Given the description of an element on the screen output the (x, y) to click on. 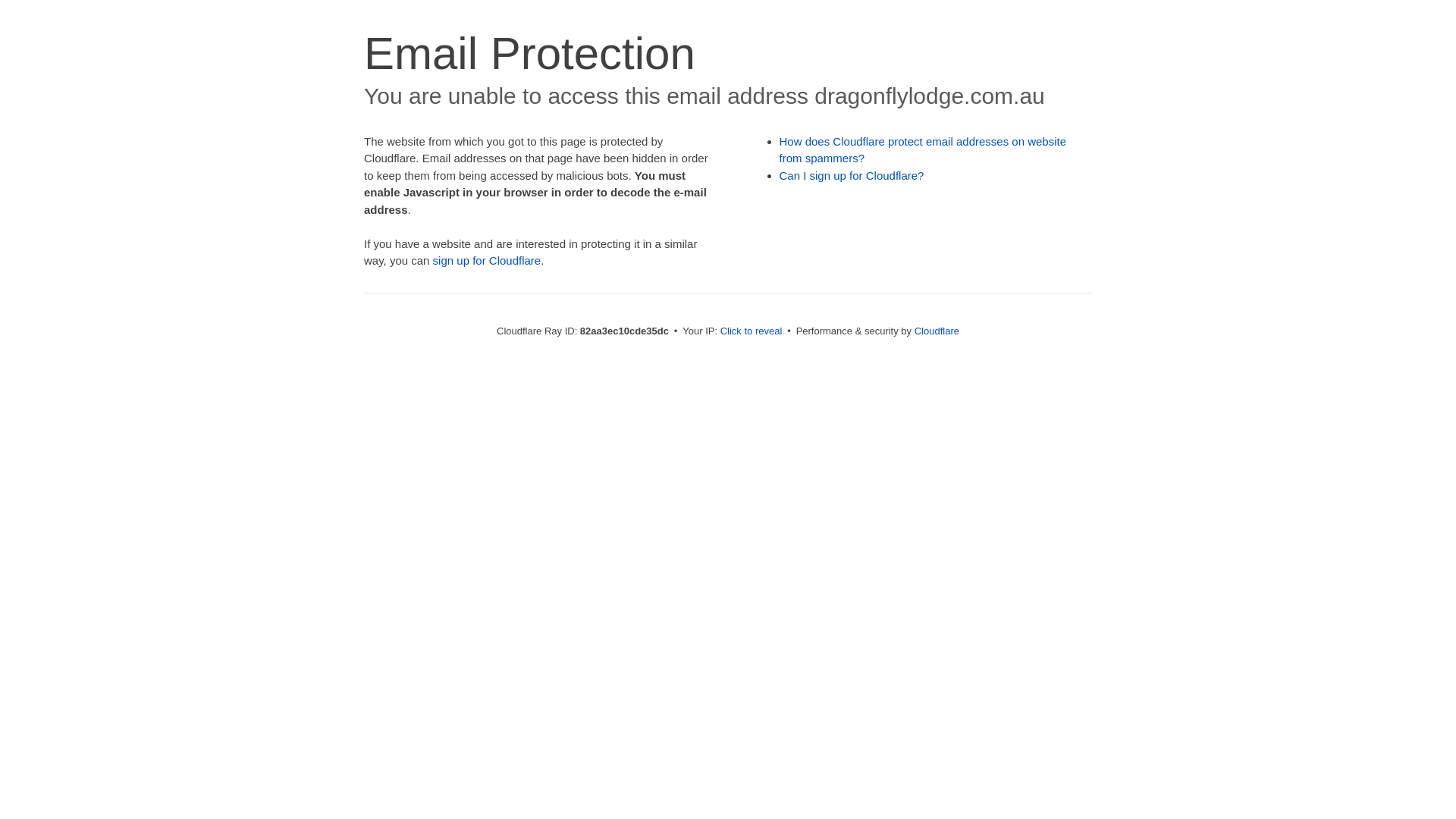
sign up for Cloudflare Element type: text (487, 260)
Cloudflare Element type: text (936, 330)
Can I sign up for Cloudflare? Element type: text (851, 175)
Click to reveal Element type: text (751, 330)
